Given the description of an element on the screen output the (x, y) to click on. 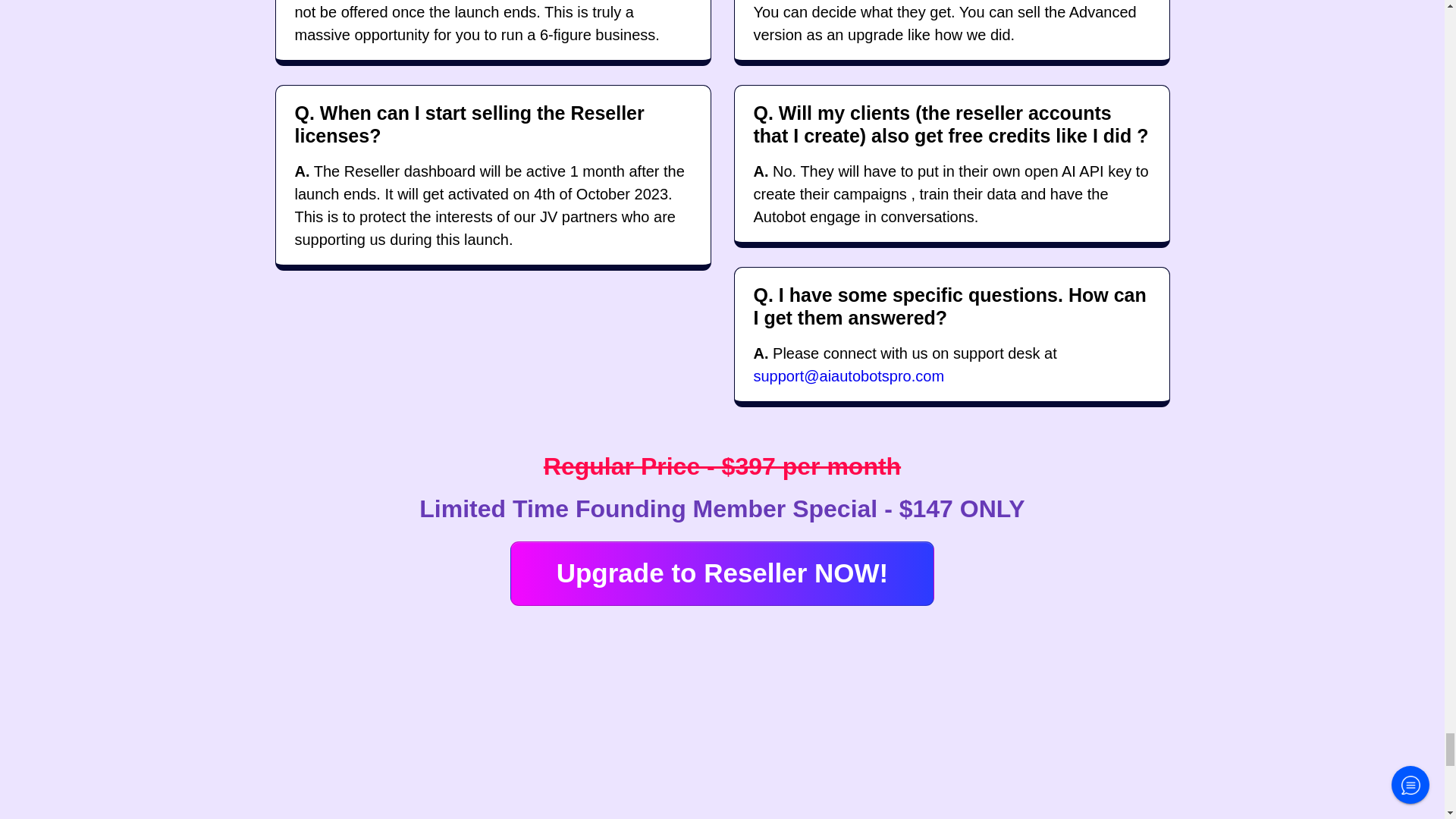
Upgrade to Reseller NOW! (722, 573)
